Given the description of an element on the screen output the (x, y) to click on. 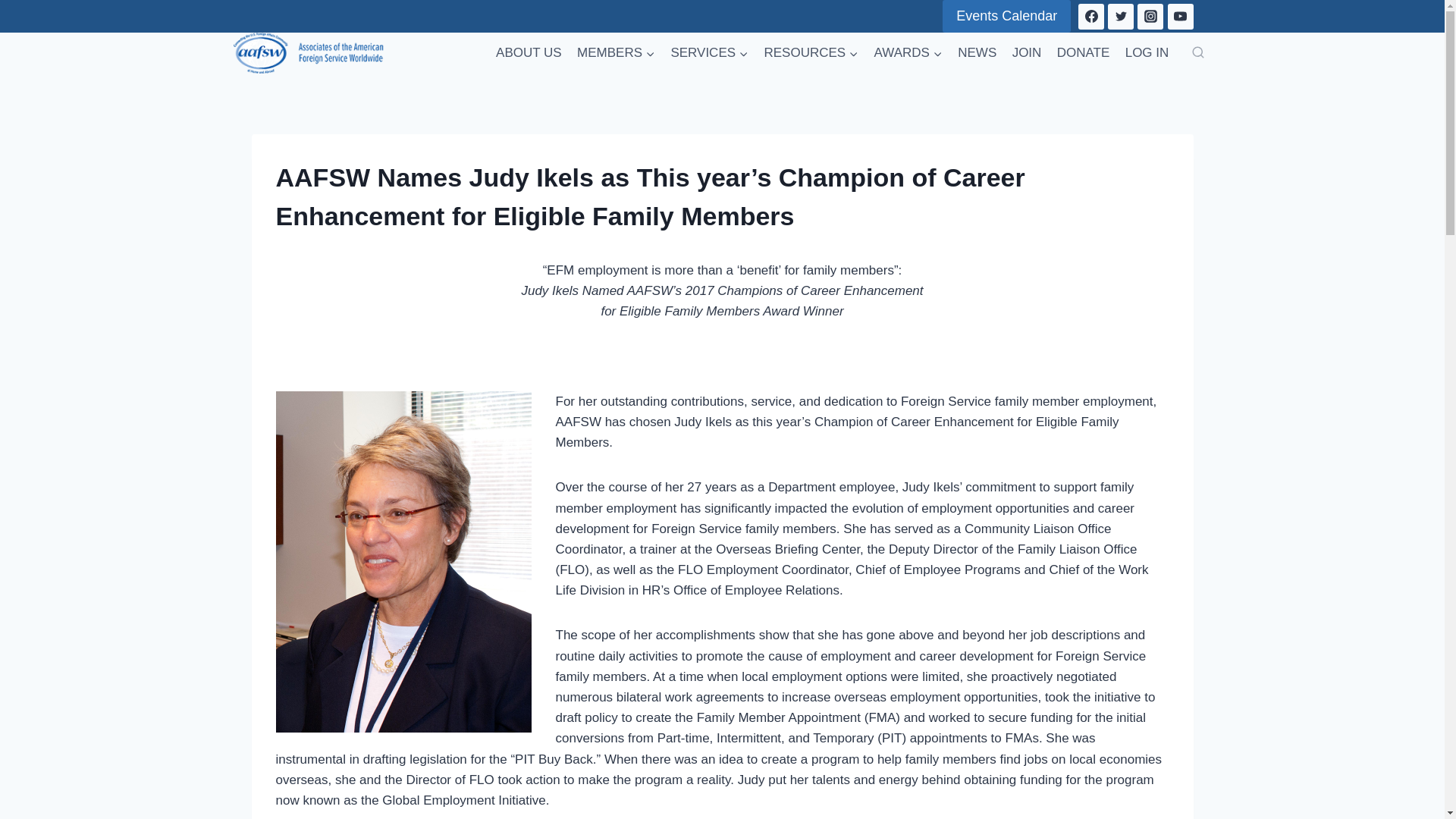
ABOUT US (528, 53)
MEMBERS (615, 53)
SERVICES (708, 53)
NEWS (977, 53)
RESOURCES (810, 53)
DONATE (1083, 53)
JOIN (1026, 53)
Events Calendar (1006, 16)
AWARDS (908, 53)
